Given the description of an element on the screen output the (x, y) to click on. 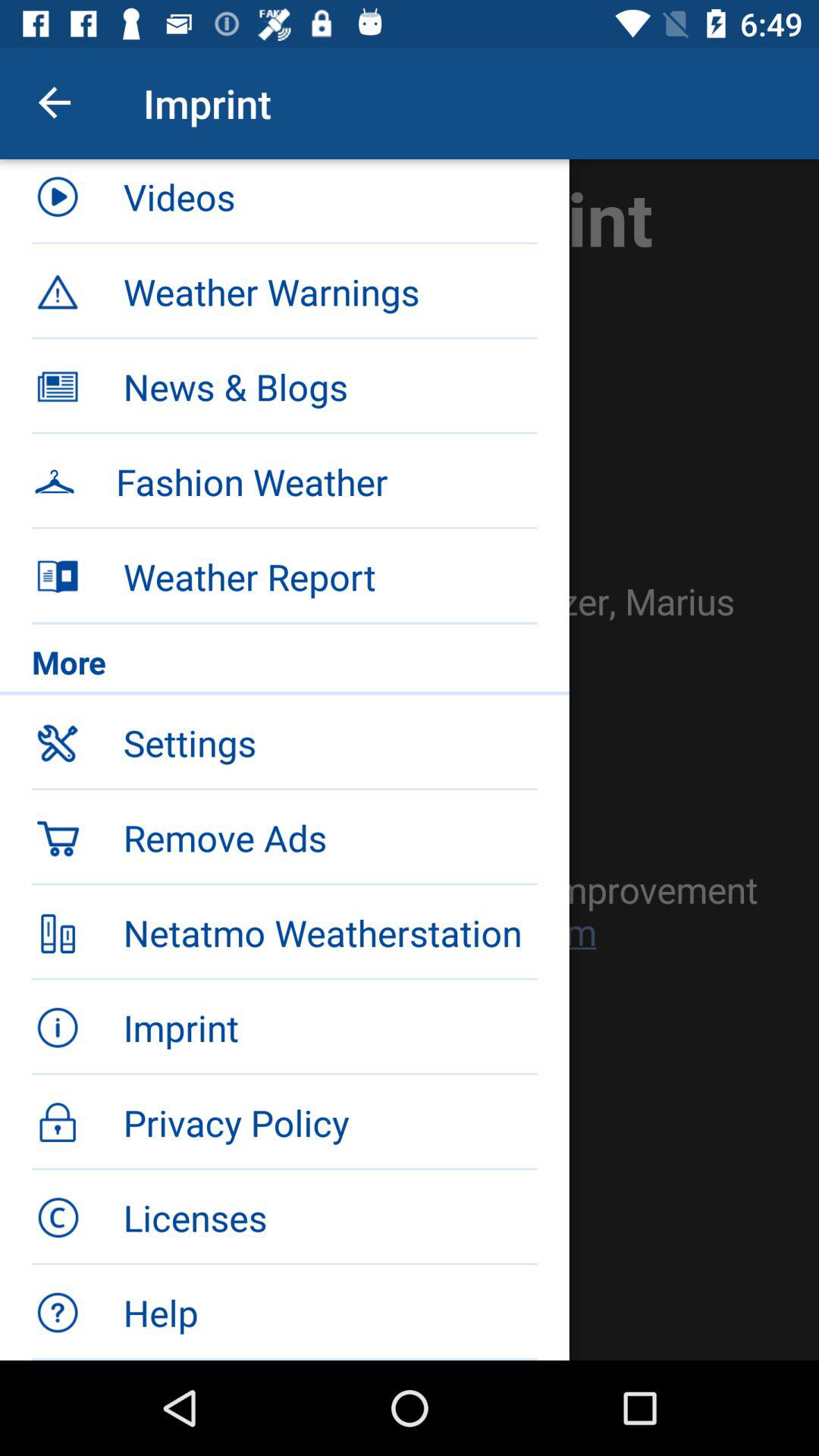
swipe to news & blogs (330, 386)
